Given the description of an element on the screen output the (x, y) to click on. 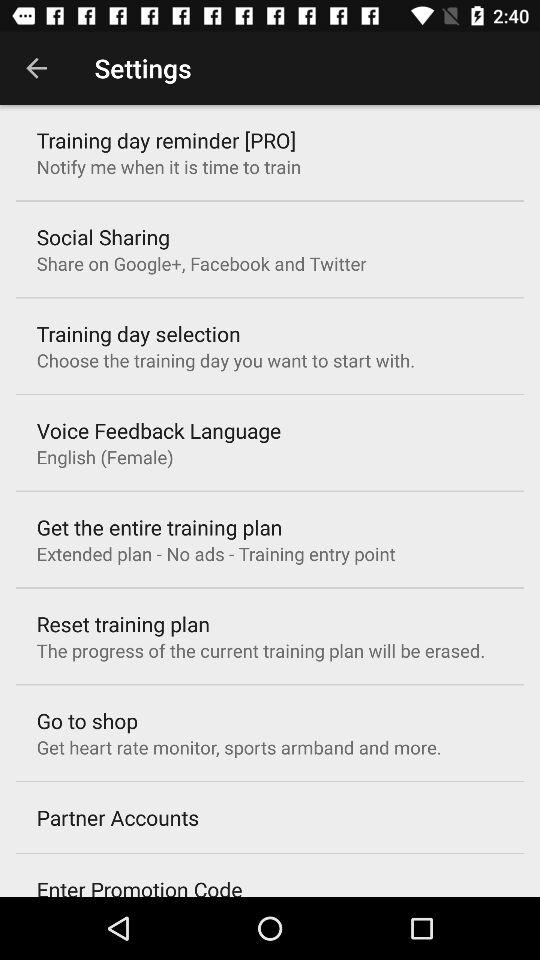
scroll to the the progress of item (260, 650)
